Given the description of an element on the screen output the (x, y) to click on. 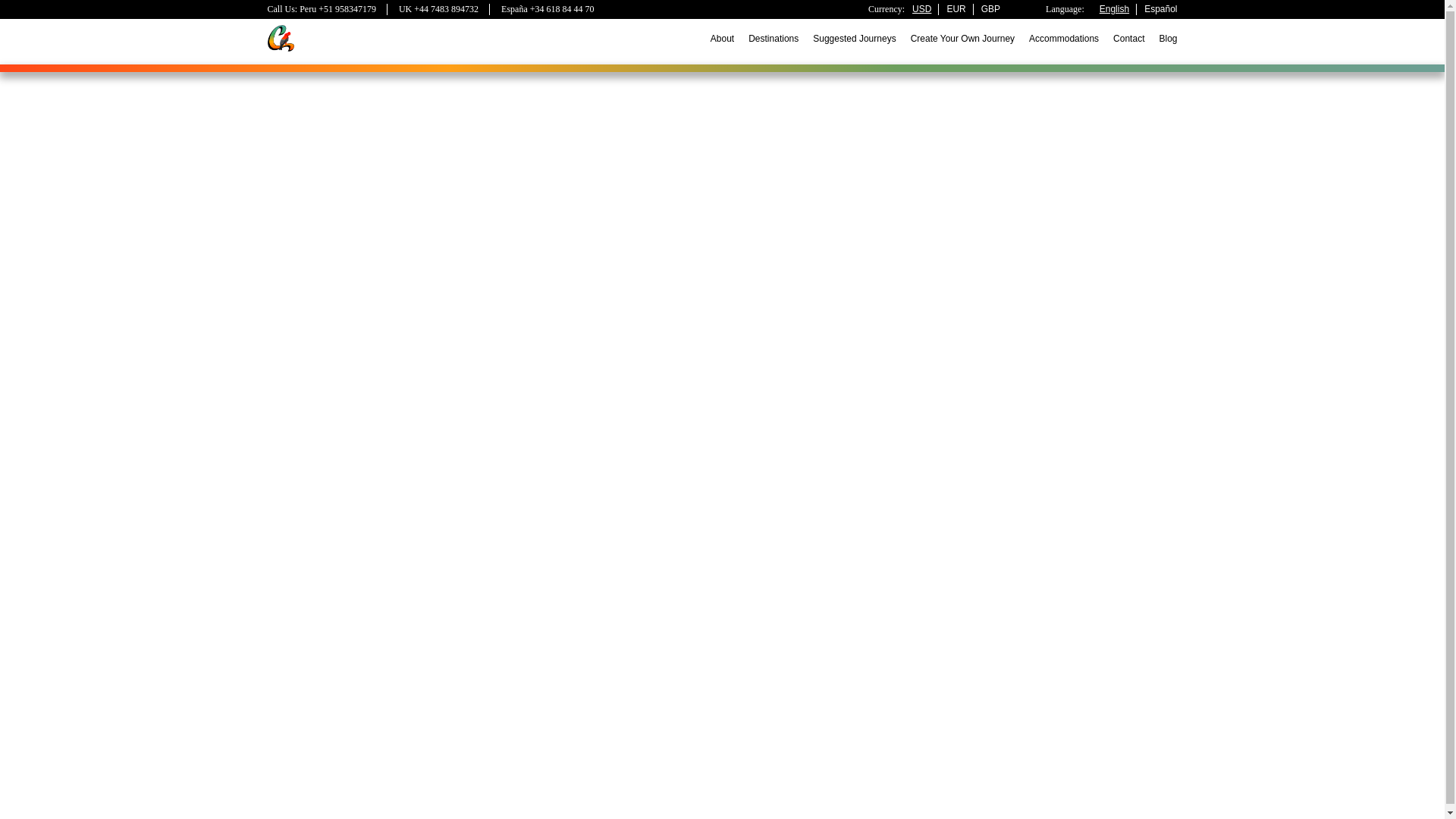
Suggested Journeys (853, 38)
EUR (955, 9)
USD (921, 9)
Contact (1128, 38)
GBP (990, 9)
Blog (1167, 38)
Create Your Own Journey (962, 38)
Destinations (772, 38)
English (1114, 9)
About (721, 38)
Accommodations (1064, 38)
